Given the description of an element on the screen output the (x, y) to click on. 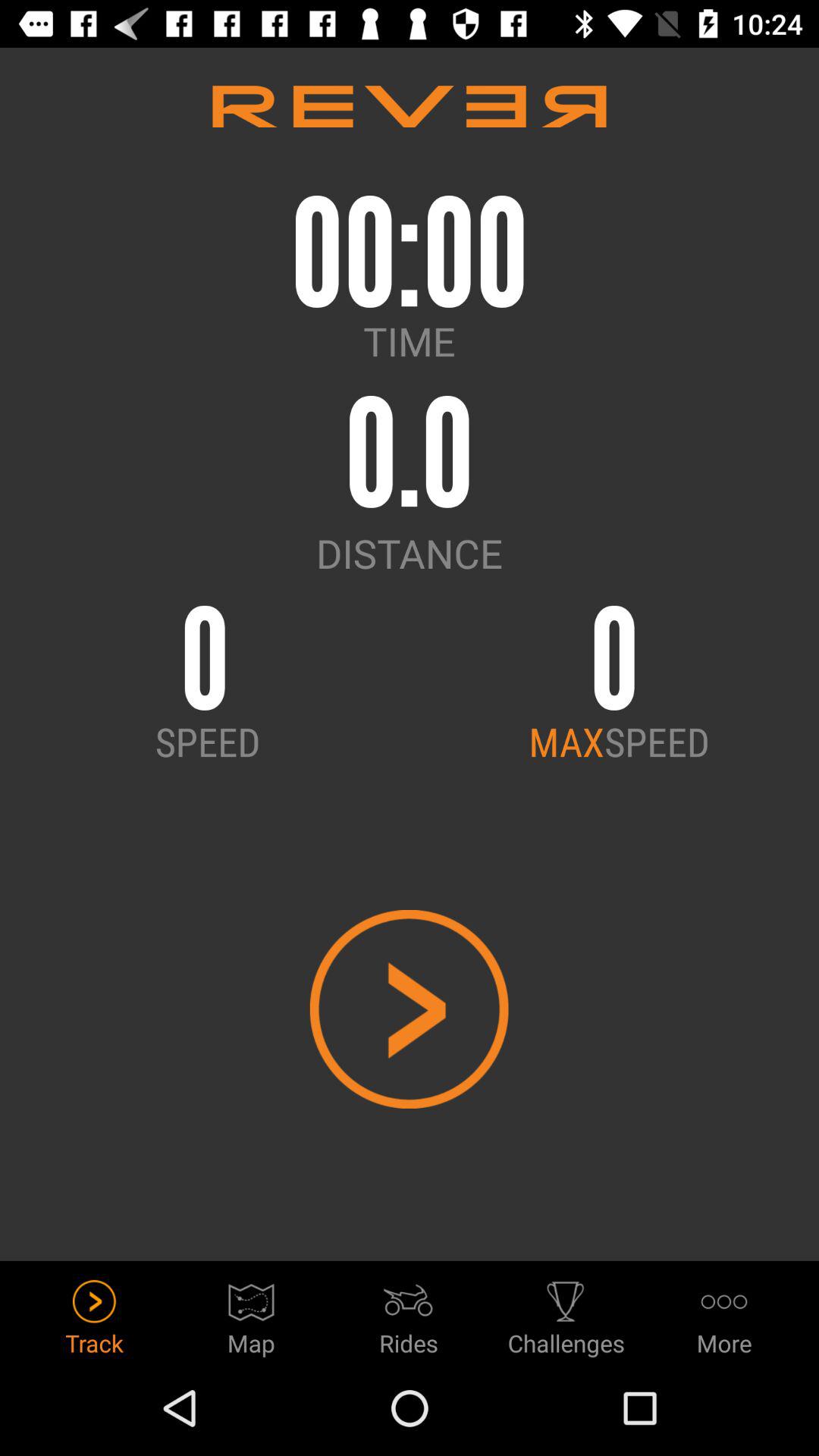
open the item to the left of the map item (93, 1313)
